Given the description of an element on the screen output the (x, y) to click on. 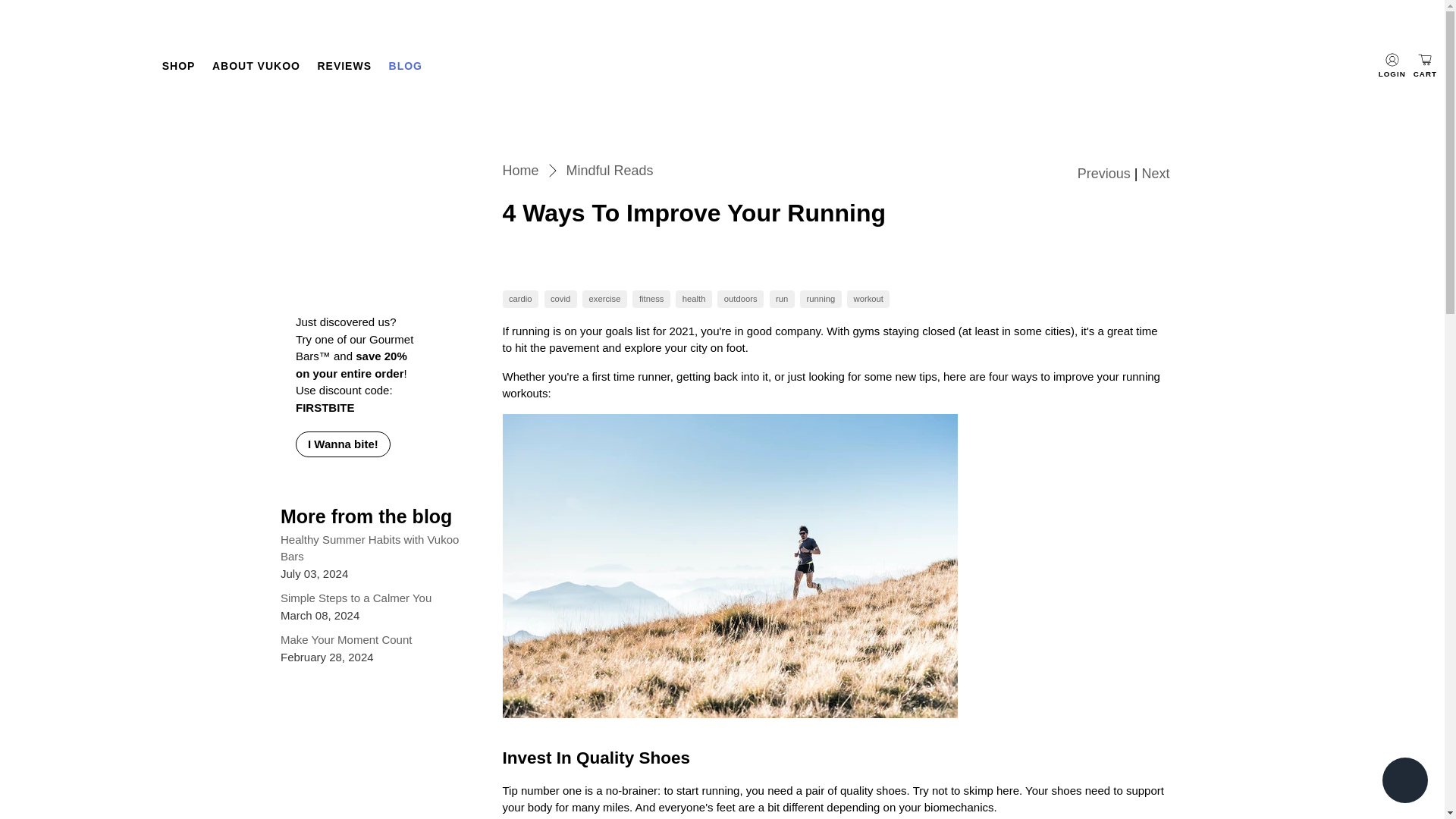
cardio (520, 298)
Mindful Reads tagged exercise (605, 298)
Make Your Moment Count (346, 639)
Simple Steps to a Calmer You (355, 597)
exercise (605, 298)
Mindful Reads tagged running (820, 298)
Mindful Reads tagged run (781, 298)
Simple Steps to a Calmer You (355, 597)
I Wanna bite! (342, 444)
Next (1155, 173)
